Given the description of an element on the screen output the (x, y) to click on. 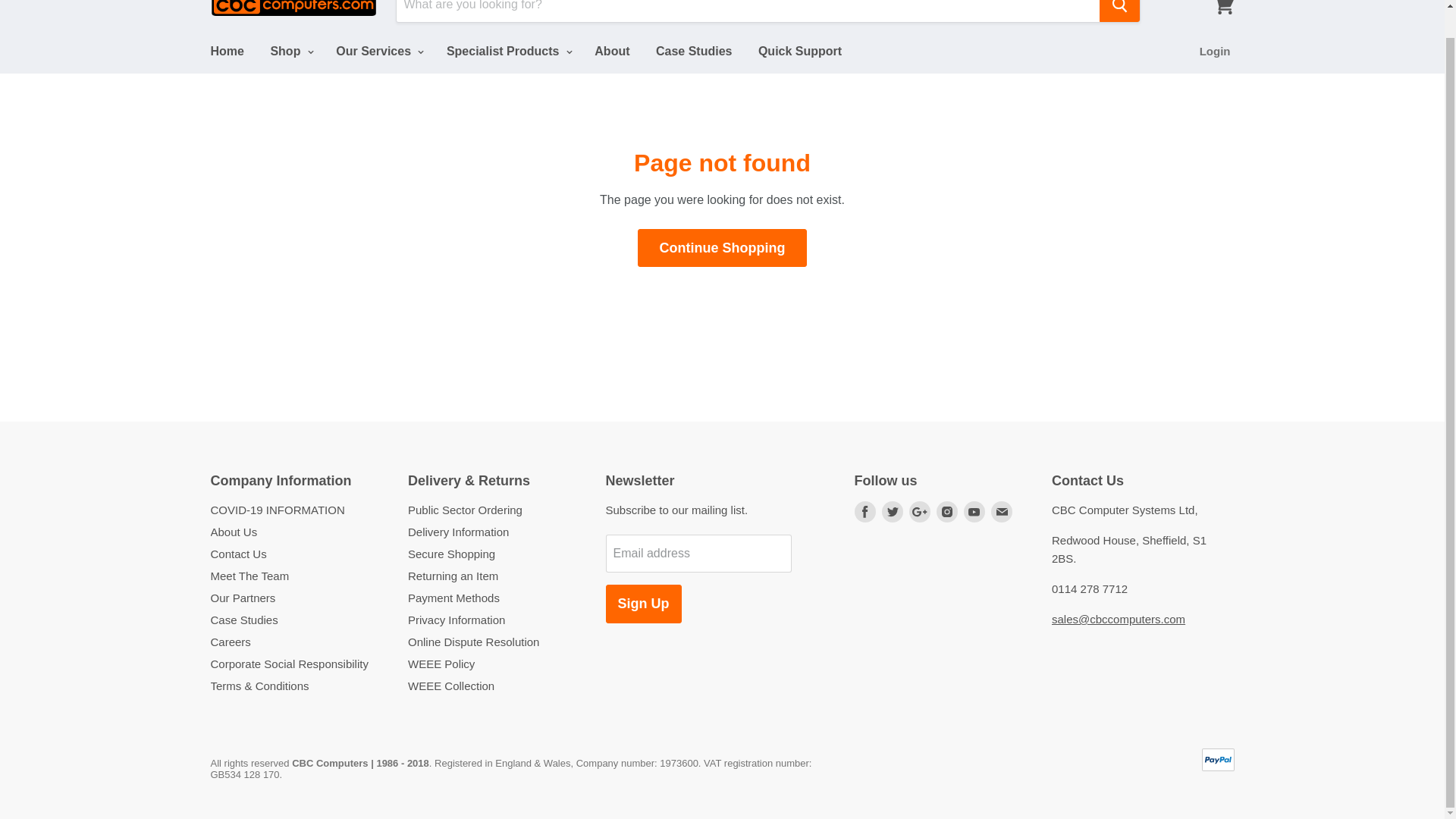
Facebook (863, 511)
Our Services (377, 51)
View cart (1223, 11)
E-mail (1000, 511)
Shop (289, 51)
Specialist Products (507, 51)
Twitter (891, 511)
Google (919, 511)
Home (226, 51)
Login (1215, 51)
